Given the description of an element on the screen output the (x, y) to click on. 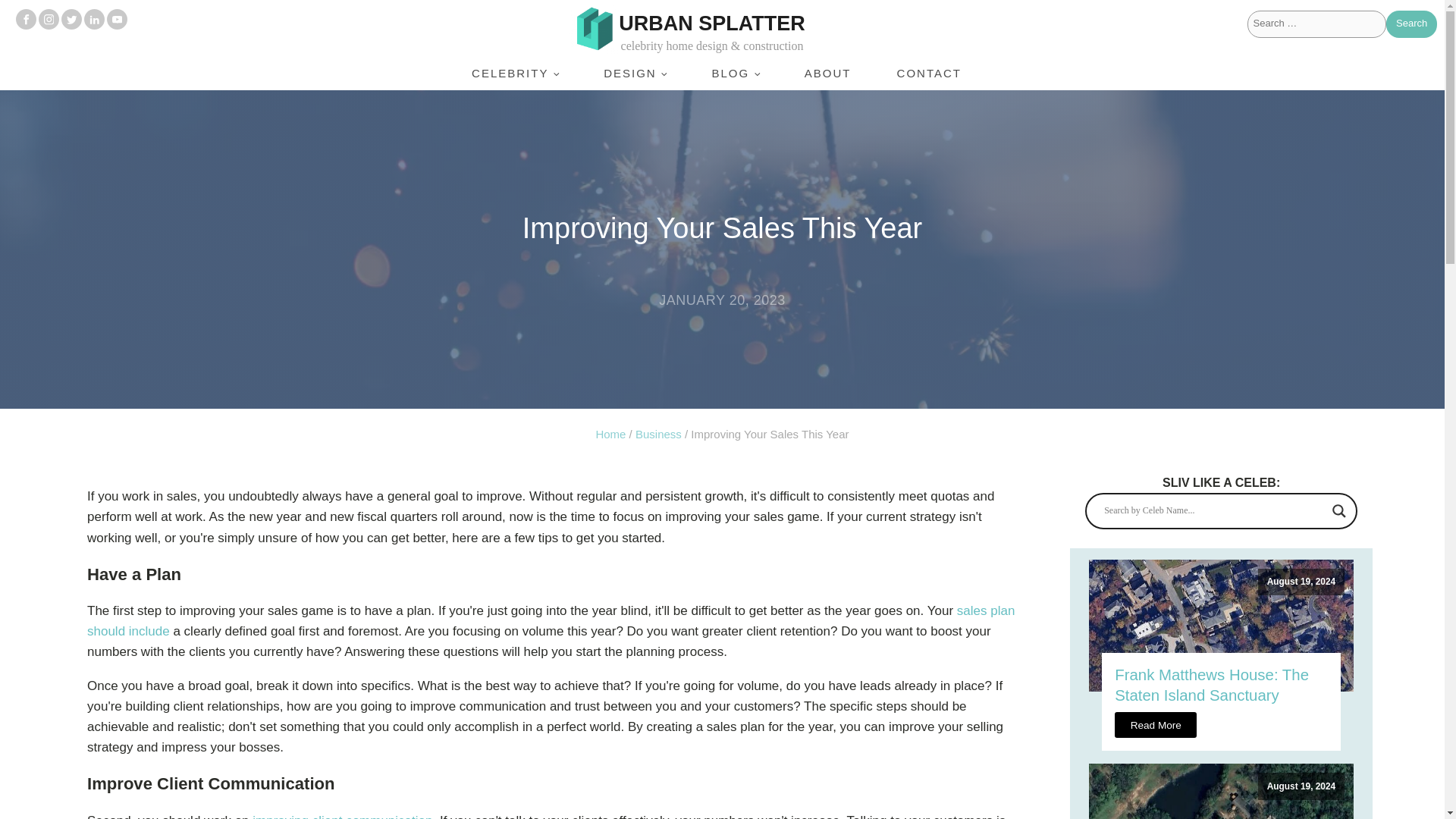
Search (1411, 23)
DESIGN (634, 73)
Search (1411, 23)
BLOG (734, 73)
CELEBRITY (514, 73)
Search (1411, 23)
